Given the description of an element on the screen output the (x, y) to click on. 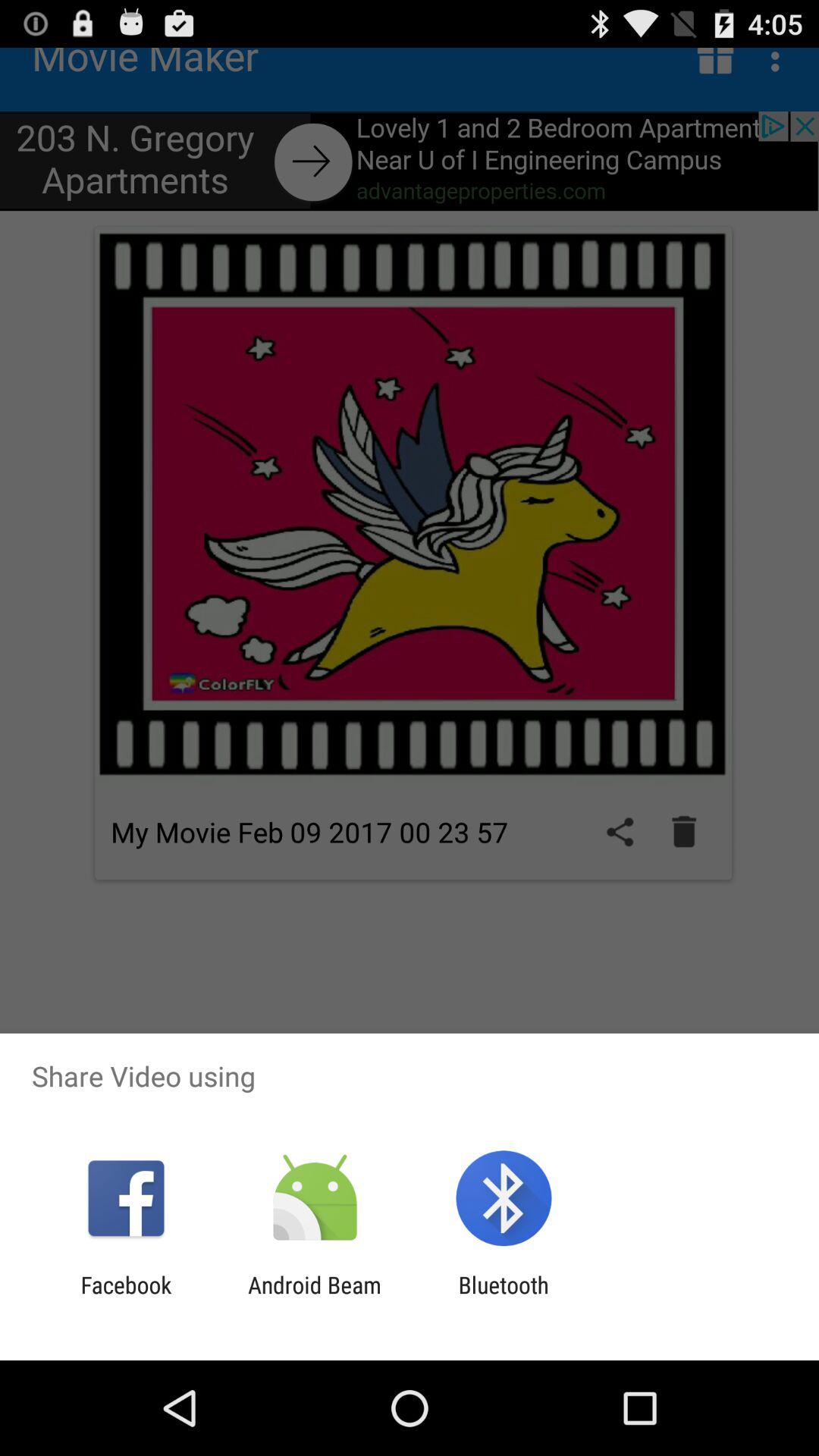
choose the item next to the android beam icon (125, 1298)
